Given the description of an element on the screen output the (x, y) to click on. 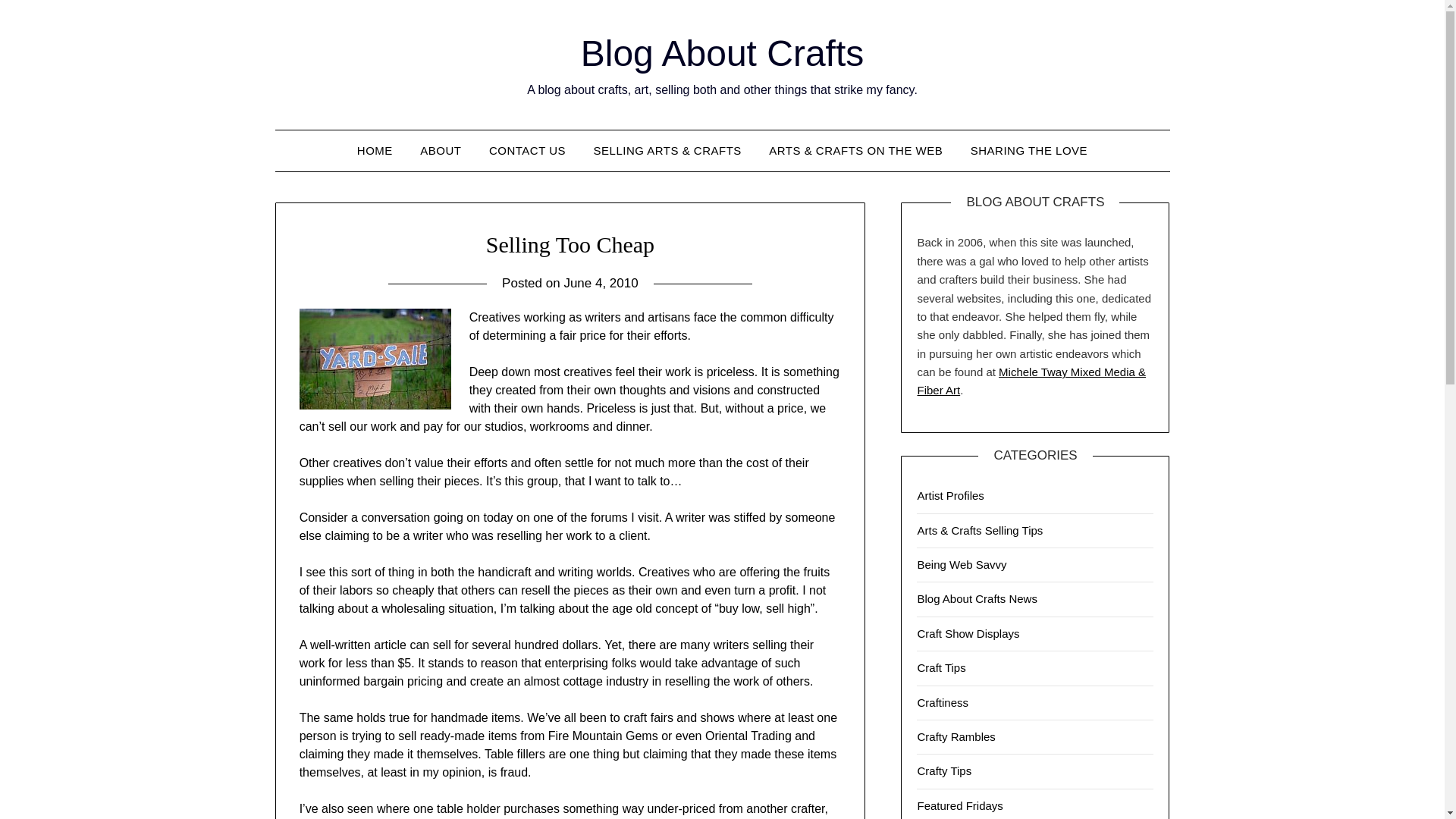
Craft Show Displays (968, 633)
ABOUT (440, 150)
Being Web Savvy (961, 563)
June 4, 2010 (600, 283)
Crafty Rambles (955, 736)
Blog About Crafts (722, 53)
Craft Tips (941, 667)
Crafty Tips (944, 770)
yard-sale (375, 358)
Craftiness (942, 702)
